Given the description of an element on the screen output the (x, y) to click on. 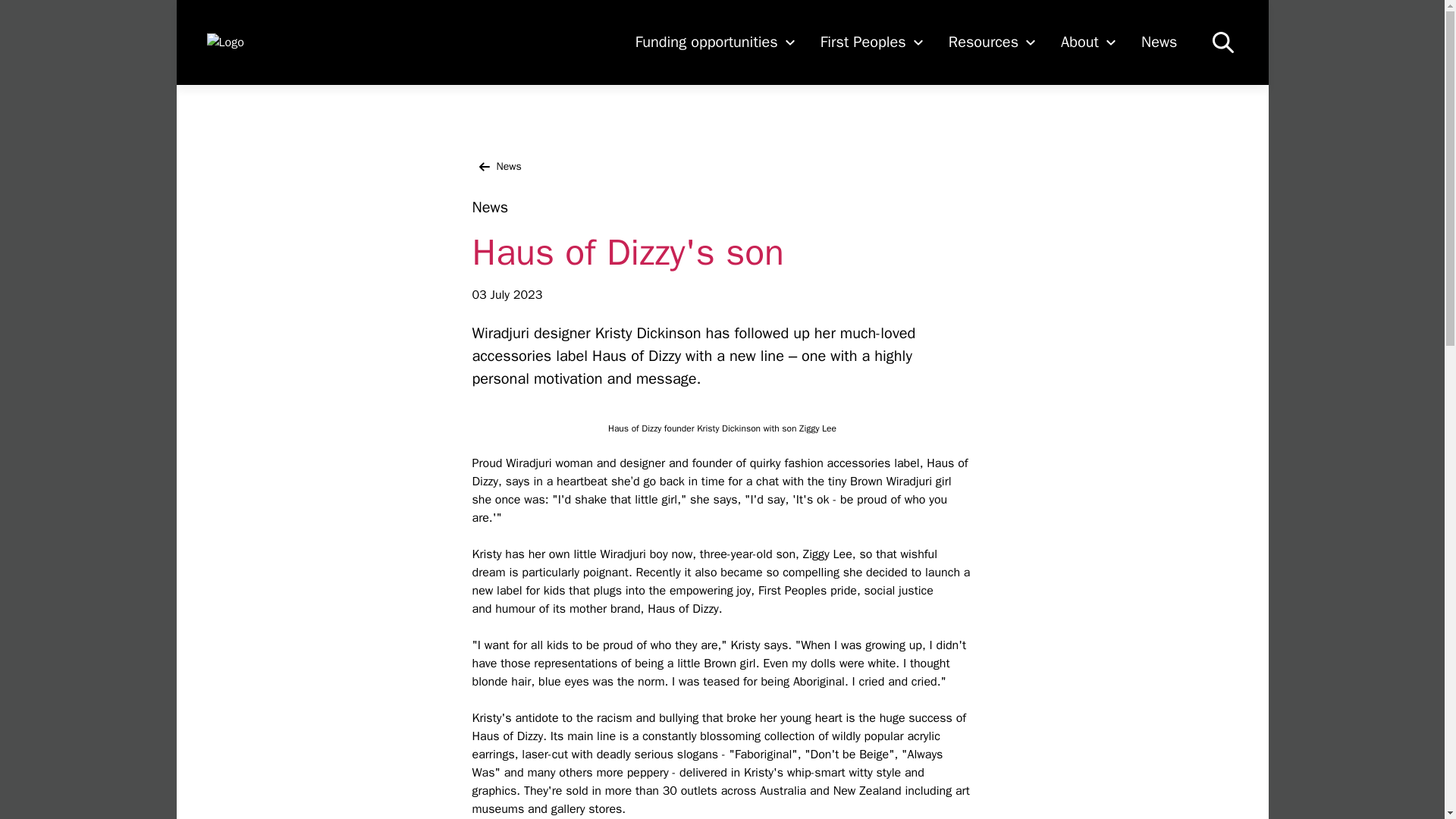
First Peoples (872, 42)
Funding opportunities (715, 42)
Open site search (1222, 42)
News (1159, 42)
News (496, 166)
Resources (992, 42)
About (1088, 42)
